Given the description of an element on the screen output the (x, y) to click on. 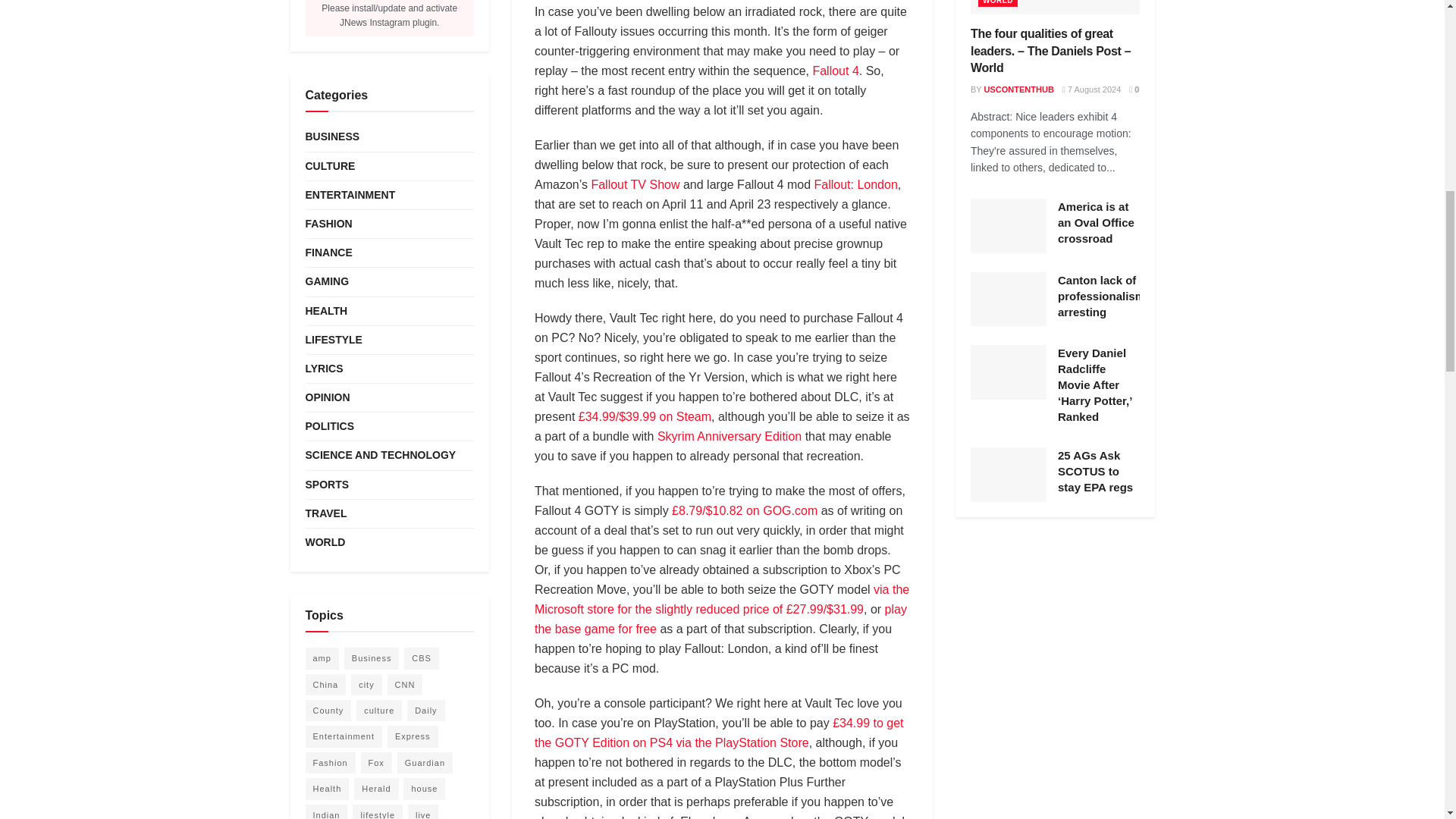
Fallout TV Show (635, 184)
Fallout 4 (835, 70)
Fallout: London (855, 184)
Skyrim Anniversary Edition (730, 436)
